Given the description of an element on the screen output the (x, y) to click on. 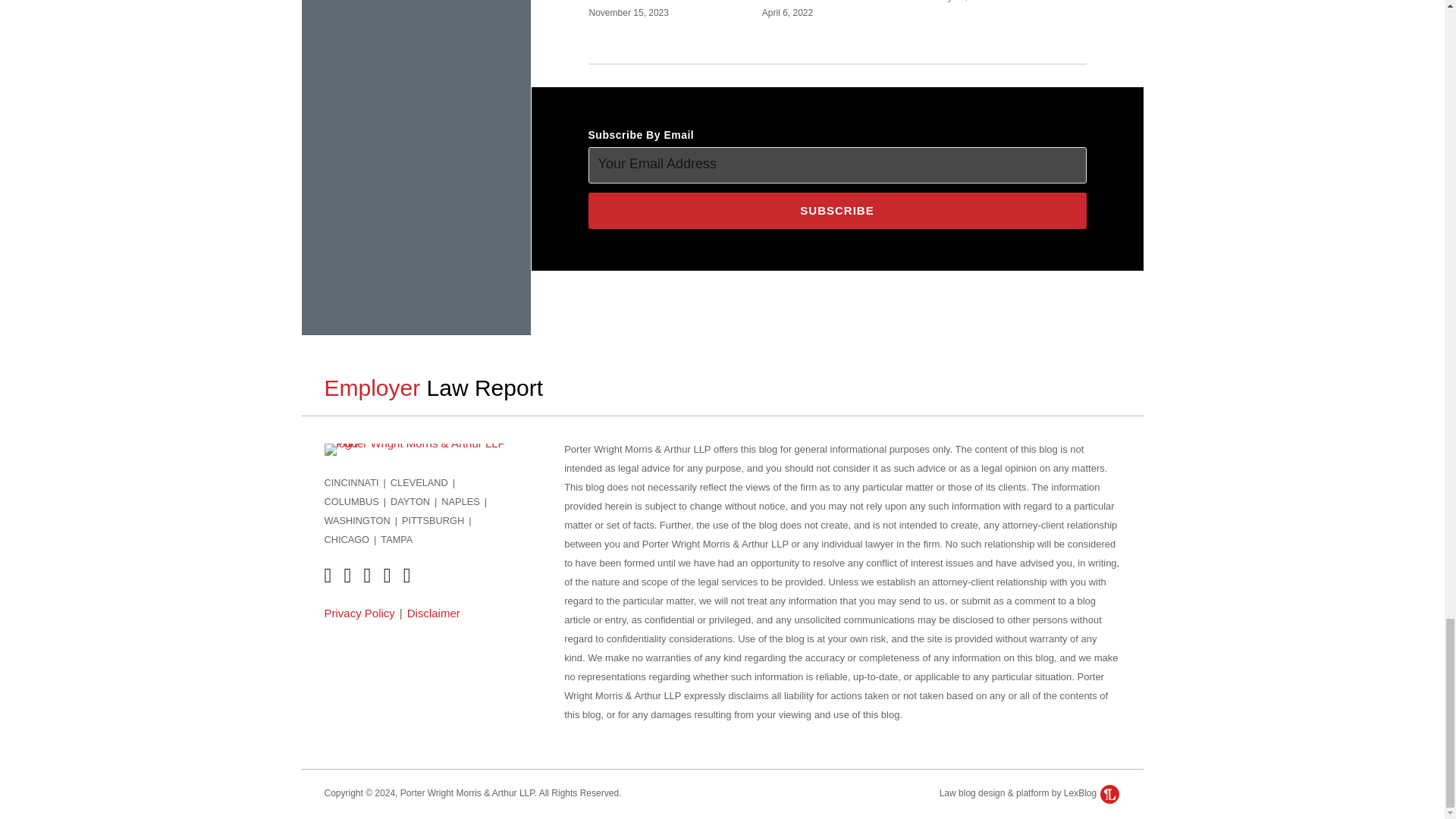
Subscribe (837, 210)
Subscribe (837, 210)
LexBlog Logo (1109, 793)
